Given the description of an element on the screen output the (x, y) to click on. 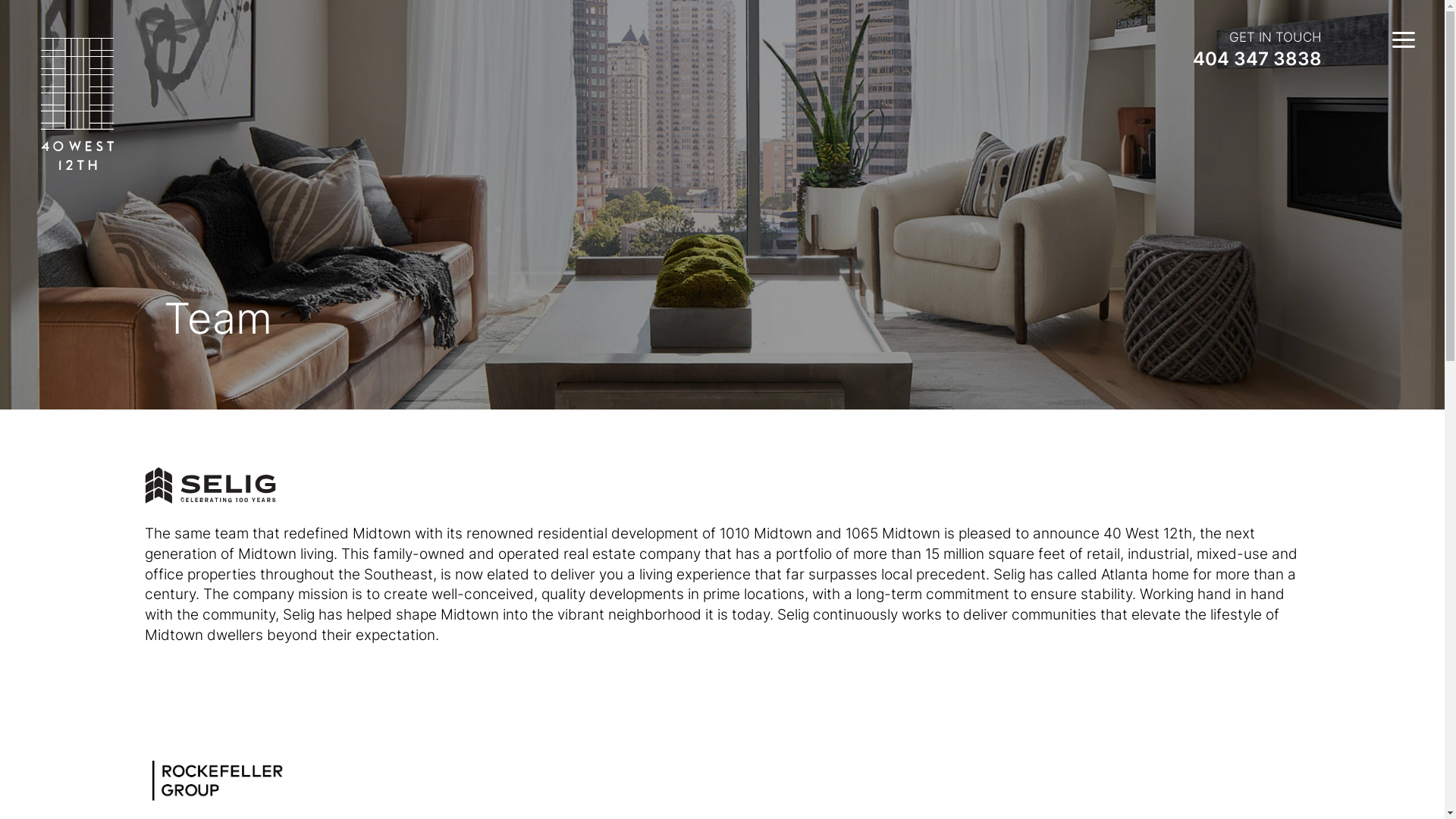
logo-40west12th-white Element type: hover (76, 103)
404 347 3838 Element type: text (1256, 58)
